Given the description of an element on the screen output the (x, y) to click on. 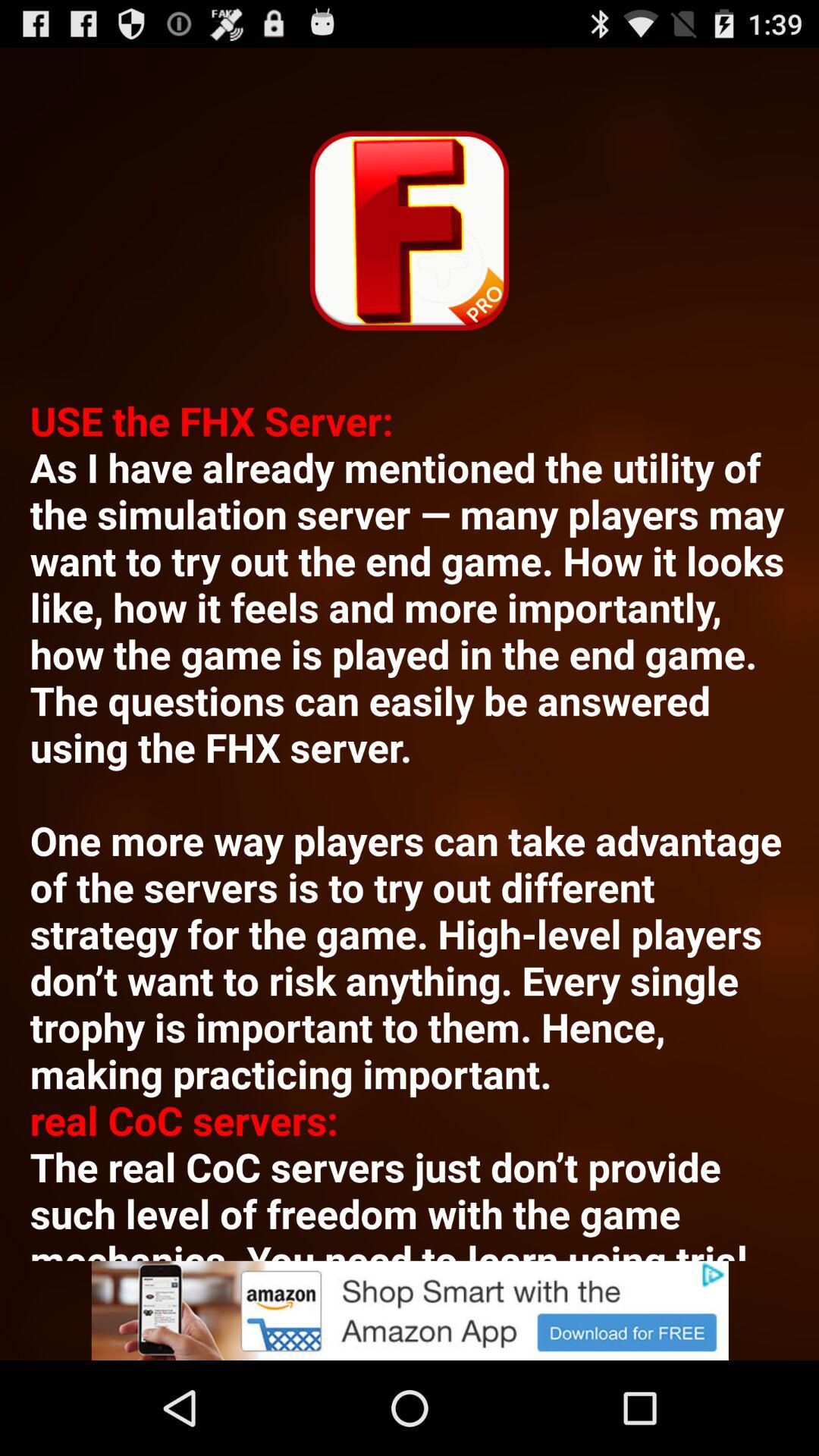
advertisement link banner (409, 1310)
